Given the description of an element on the screen output the (x, y) to click on. 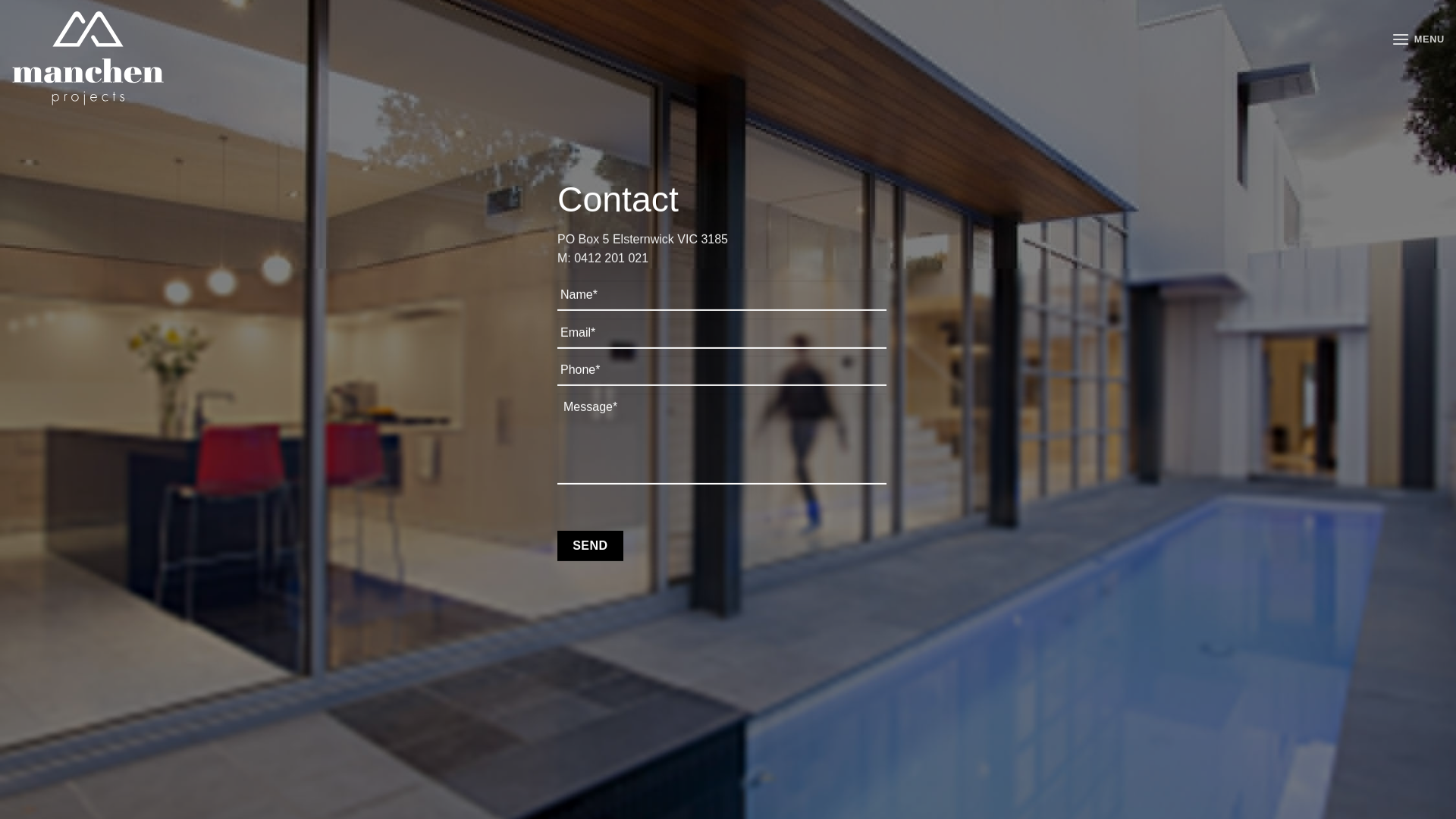
Send Element type: text (590, 545)
Skip to content Element type: text (0, 0)
MENU Element type: text (1417, 38)
Manchen Projects Element type: hover (96, 58)
